Given the description of an element on the screen output the (x, y) to click on. 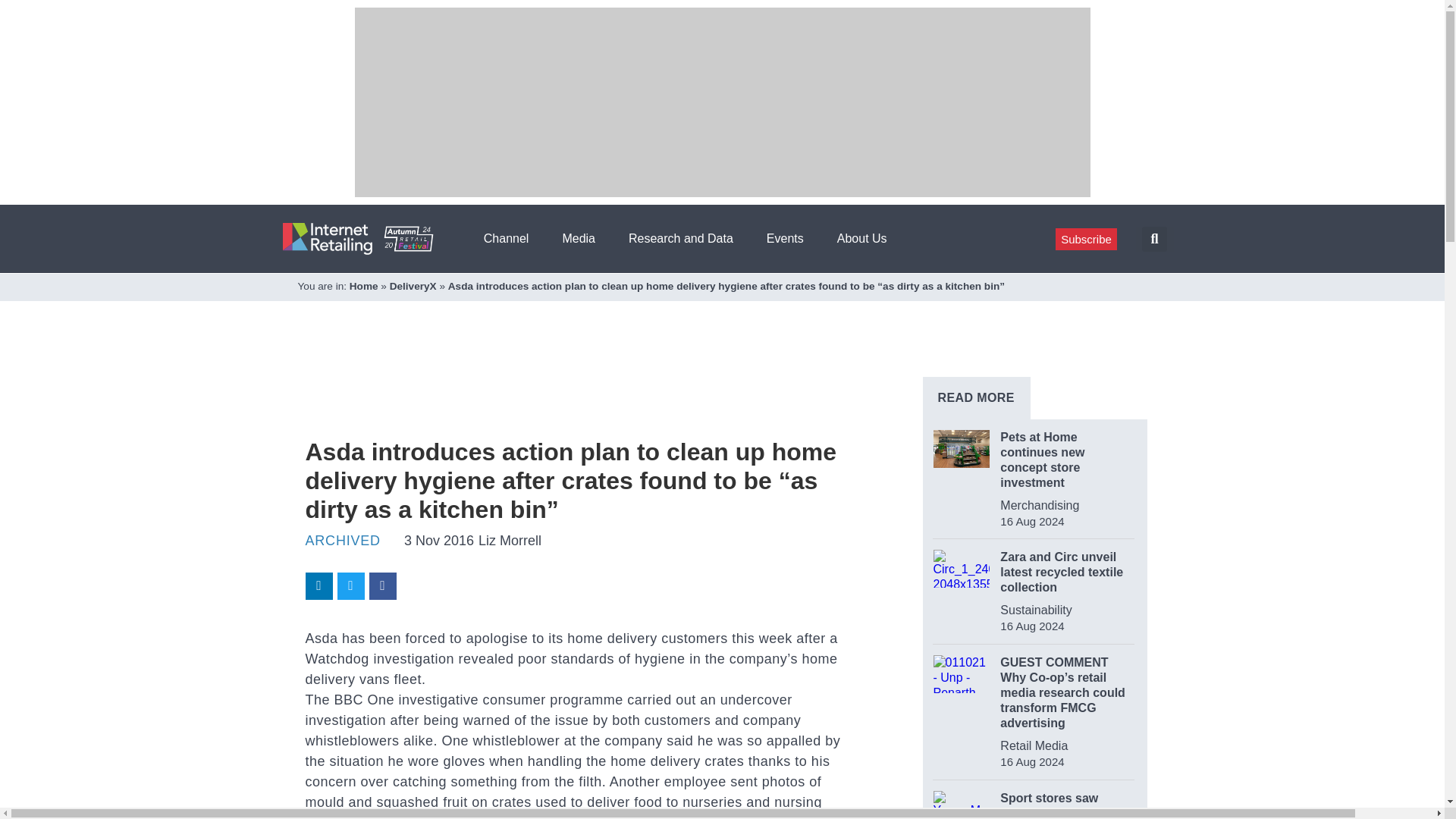
Research and Data (686, 238)
Media (583, 238)
Channel (511, 238)
